Given the description of an element on the screen output the (x, y) to click on. 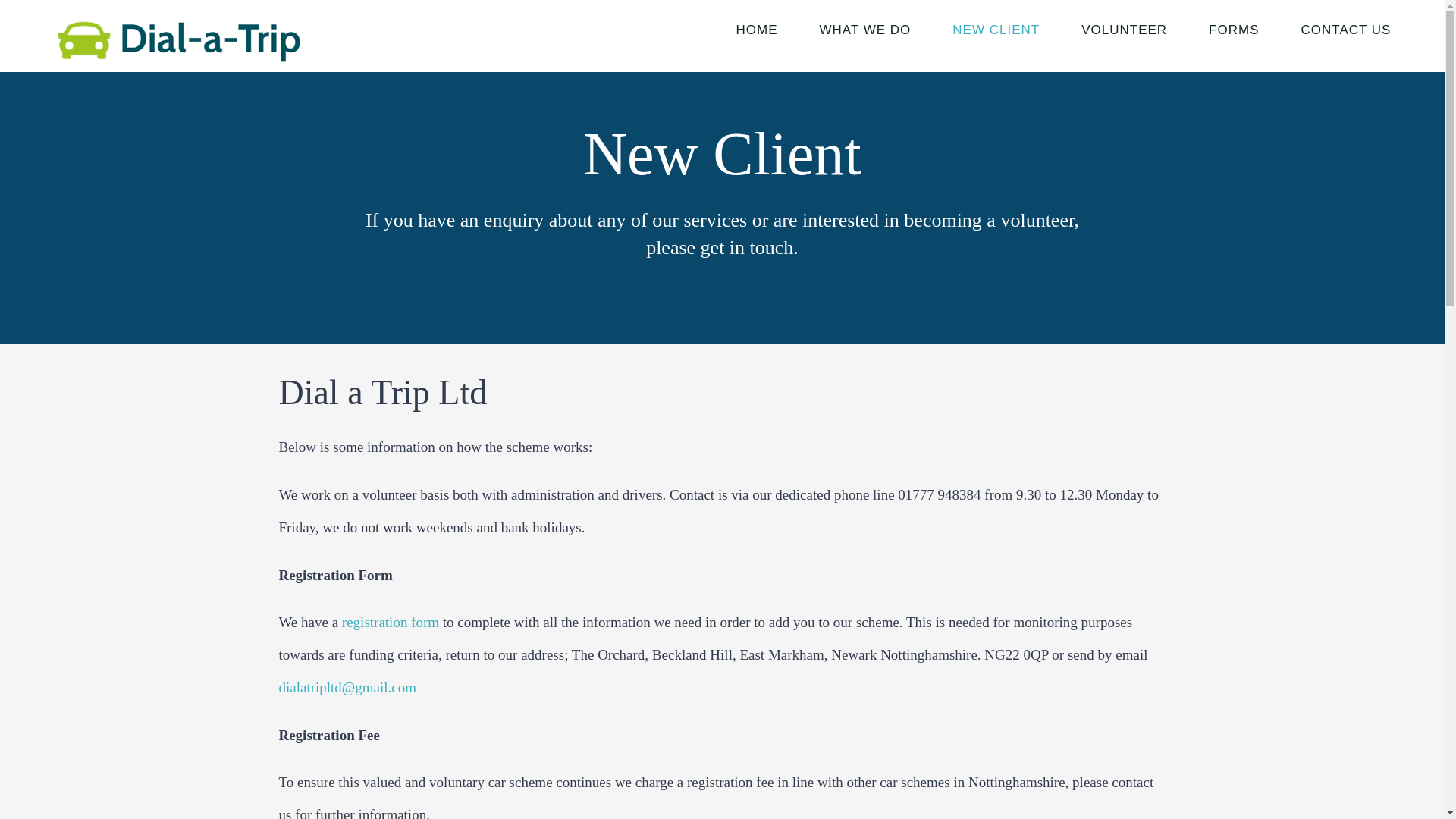
NEW CLIENT (995, 29)
registration form (390, 621)
WHAT WE DO (865, 29)
CONTACT US (1345, 29)
VOLUNTEER (1124, 29)
